Given the description of an element on the screen output the (x, y) to click on. 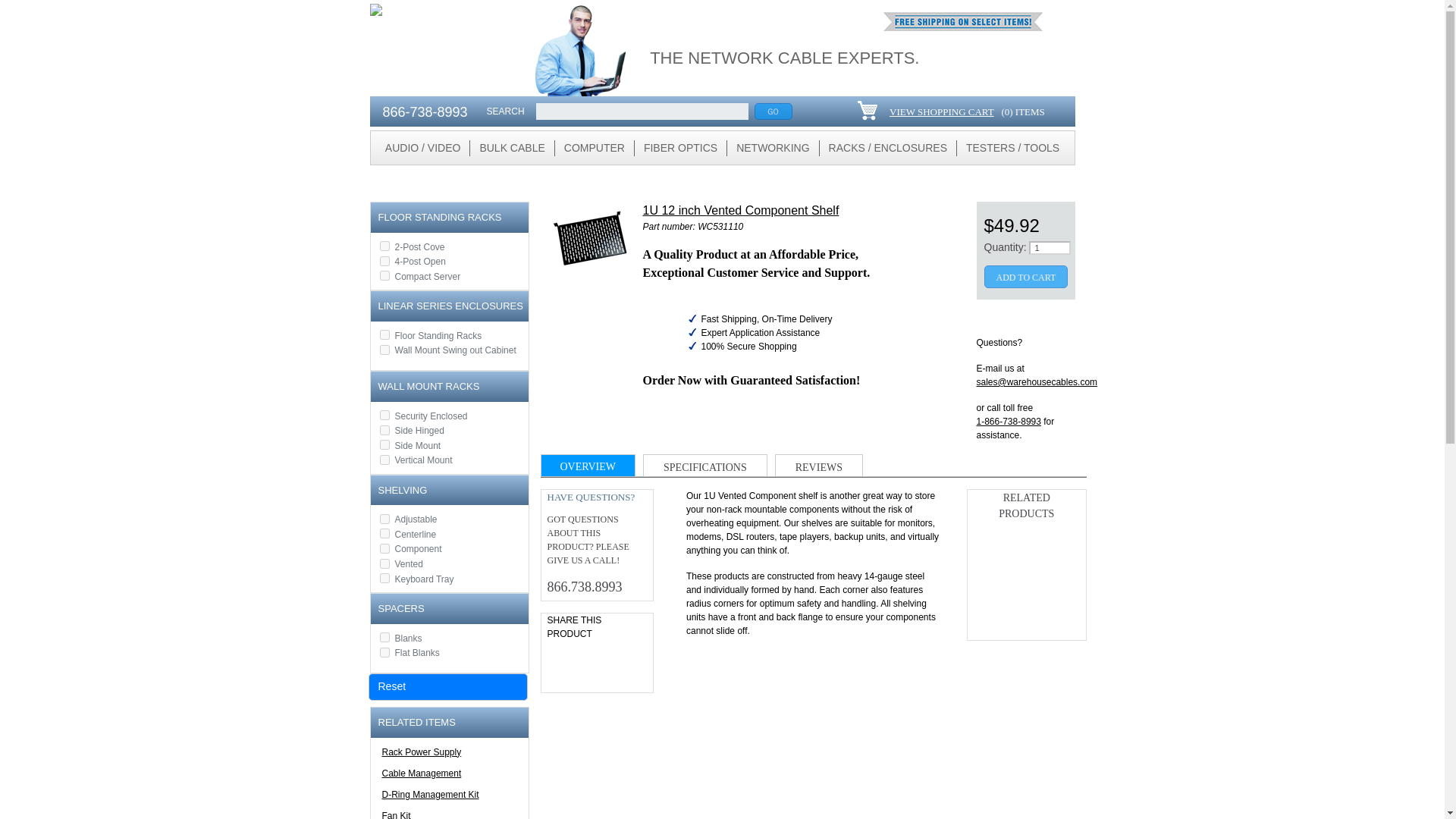
vented (383, 563)
security (383, 415)
adjustable (383, 519)
open (383, 261)
floor standing (383, 334)
VIEW SHOPPING CART (940, 111)
keyboard (383, 578)
wall mount swing (383, 349)
blank not flat (383, 637)
Warehouse Cables (436, 48)
